Given the description of an element on the screen output the (x, y) to click on. 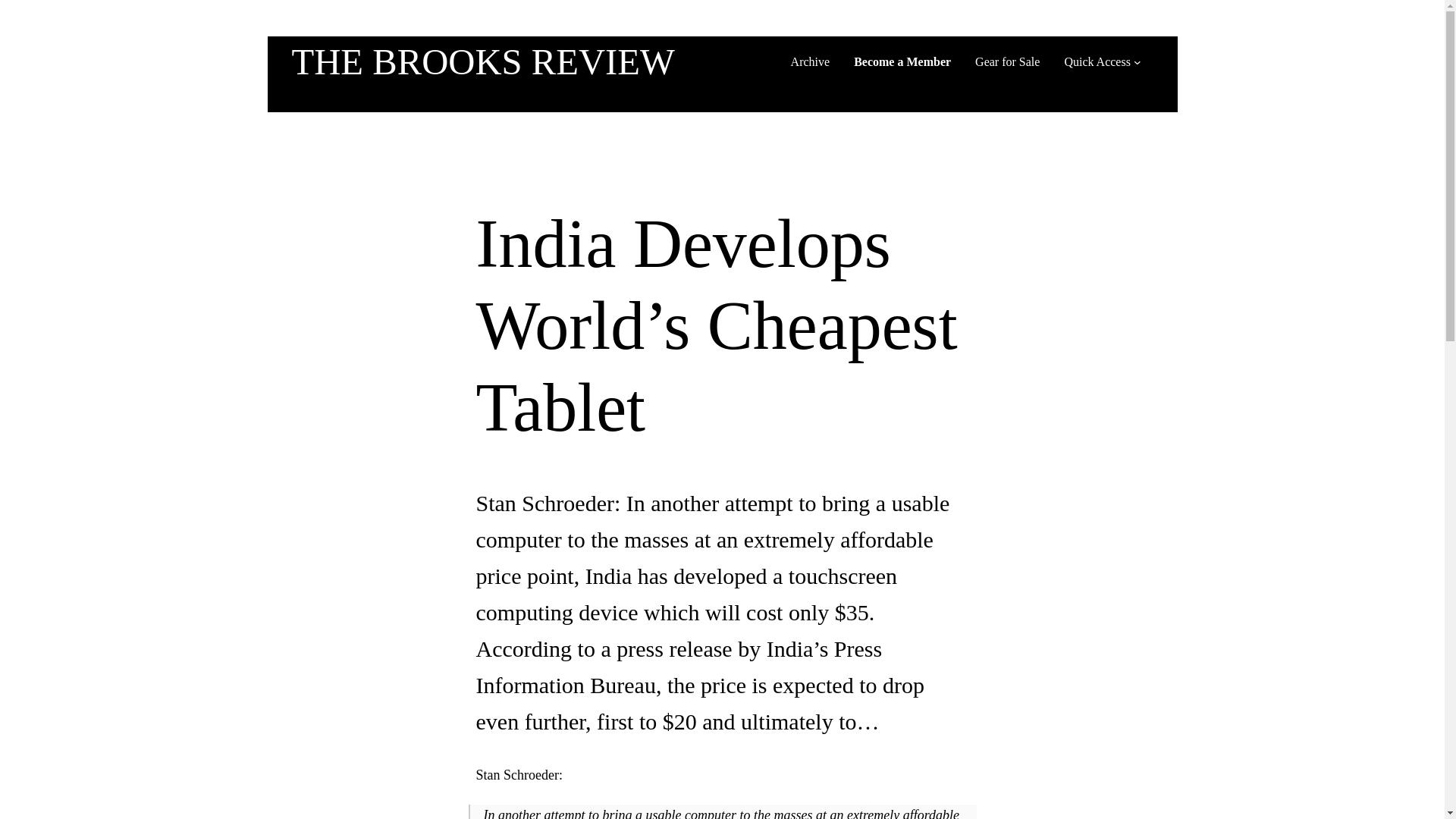
Archive (809, 62)
THE BROOKS REVIEW (482, 61)
Become a Member (901, 62)
Quick Access (1097, 62)
Gear for Sale (1007, 62)
